Given the description of an element on the screen output the (x, y) to click on. 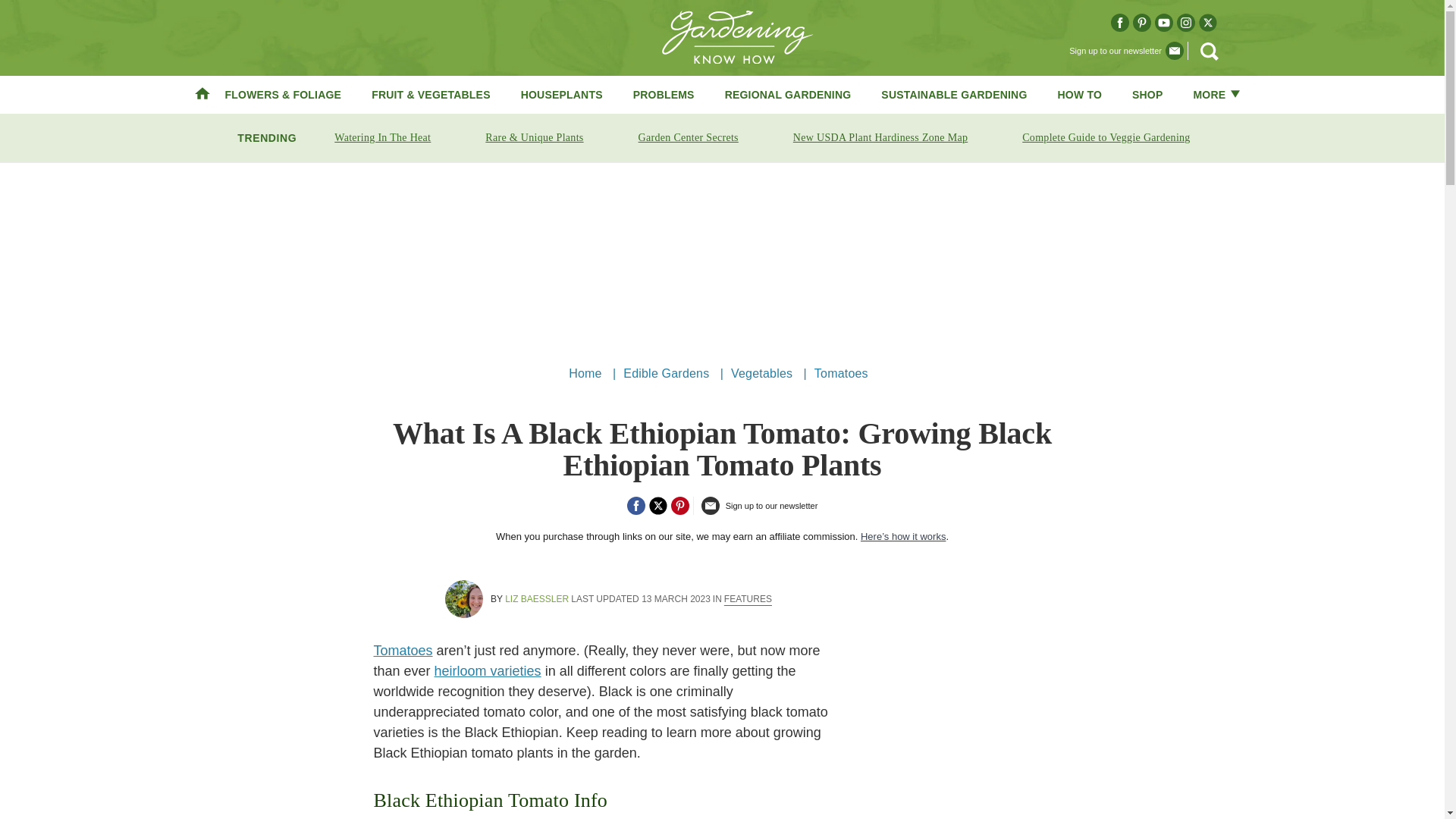
SUSTAINABLE GARDENING (953, 94)
HOW TO (1080, 94)
HOUSEPLANTS (561, 94)
PROBLEMS (663, 94)
REGIONAL GARDENING (788, 94)
Advertisement (721, 257)
Advertisement (1044, 729)
